Given the description of an element on the screen output the (x, y) to click on. 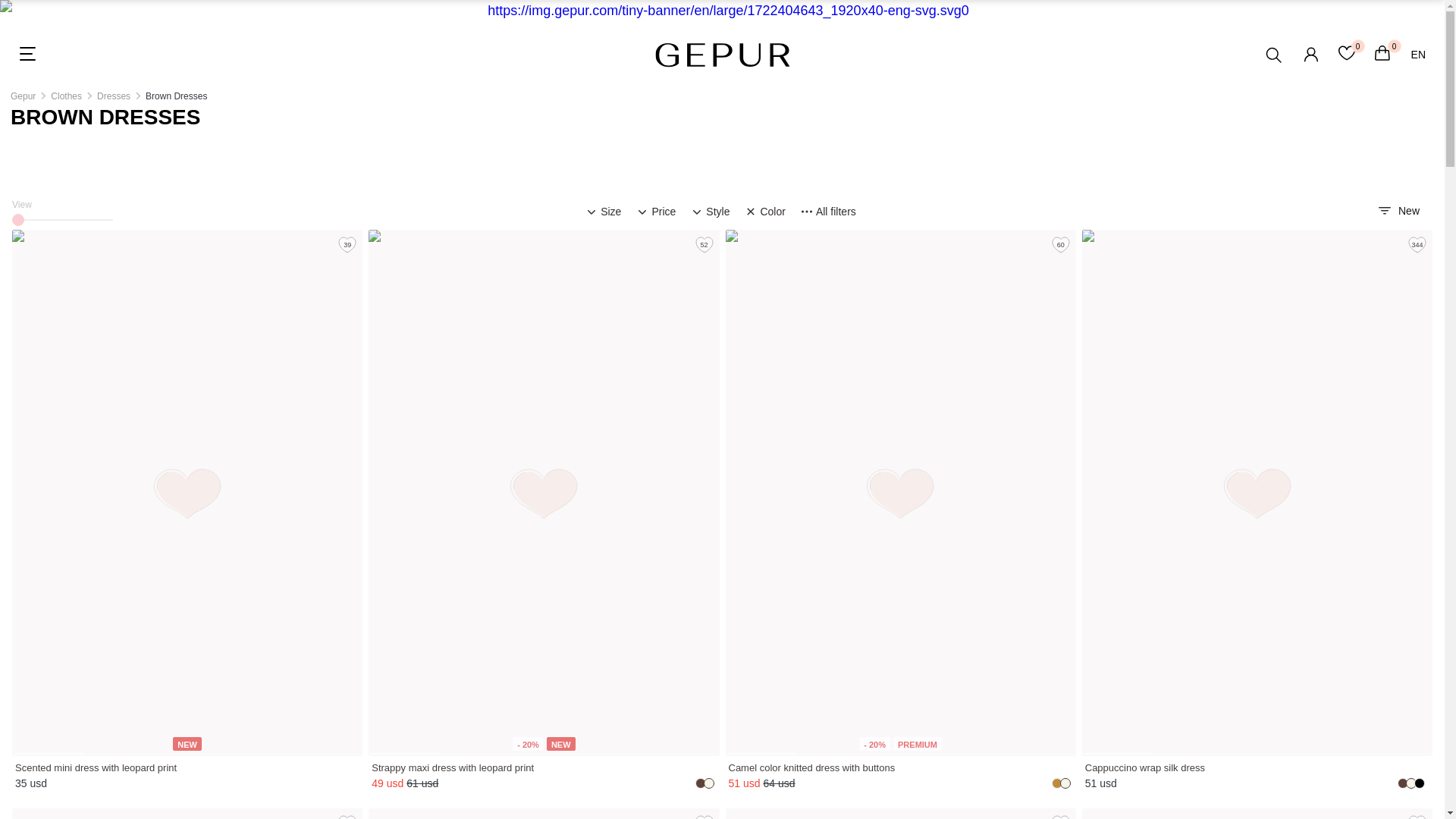
24 (62, 219)
